Given the description of an element on the screen output the (x, y) to click on. 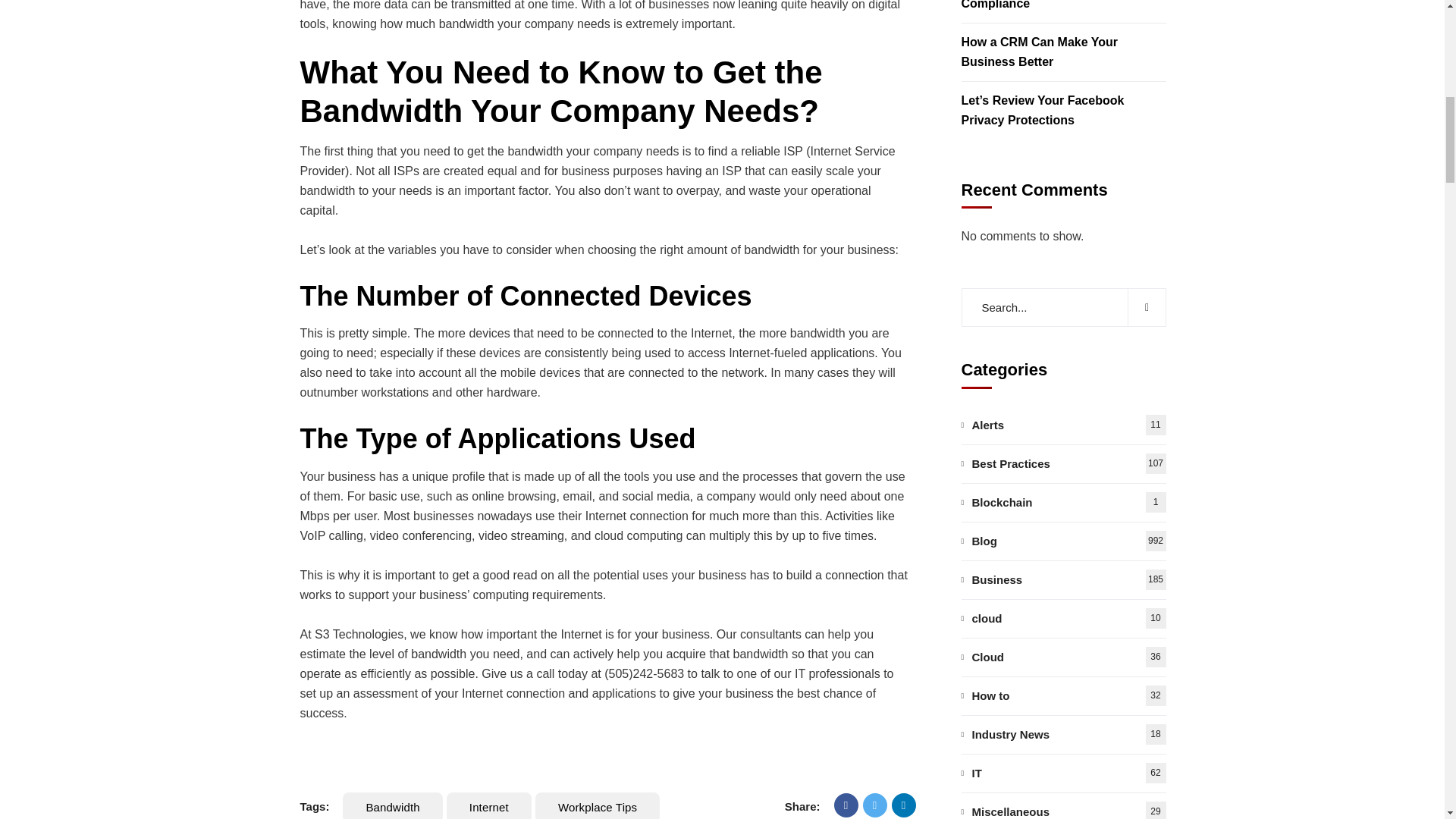
Internet (488, 805)
LinkedIn (903, 805)
Bandwidth (392, 805)
Twitter (874, 805)
Workplace Tips (597, 805)
Facebook (846, 805)
